Given the description of an element on the screen output the (x, y) to click on. 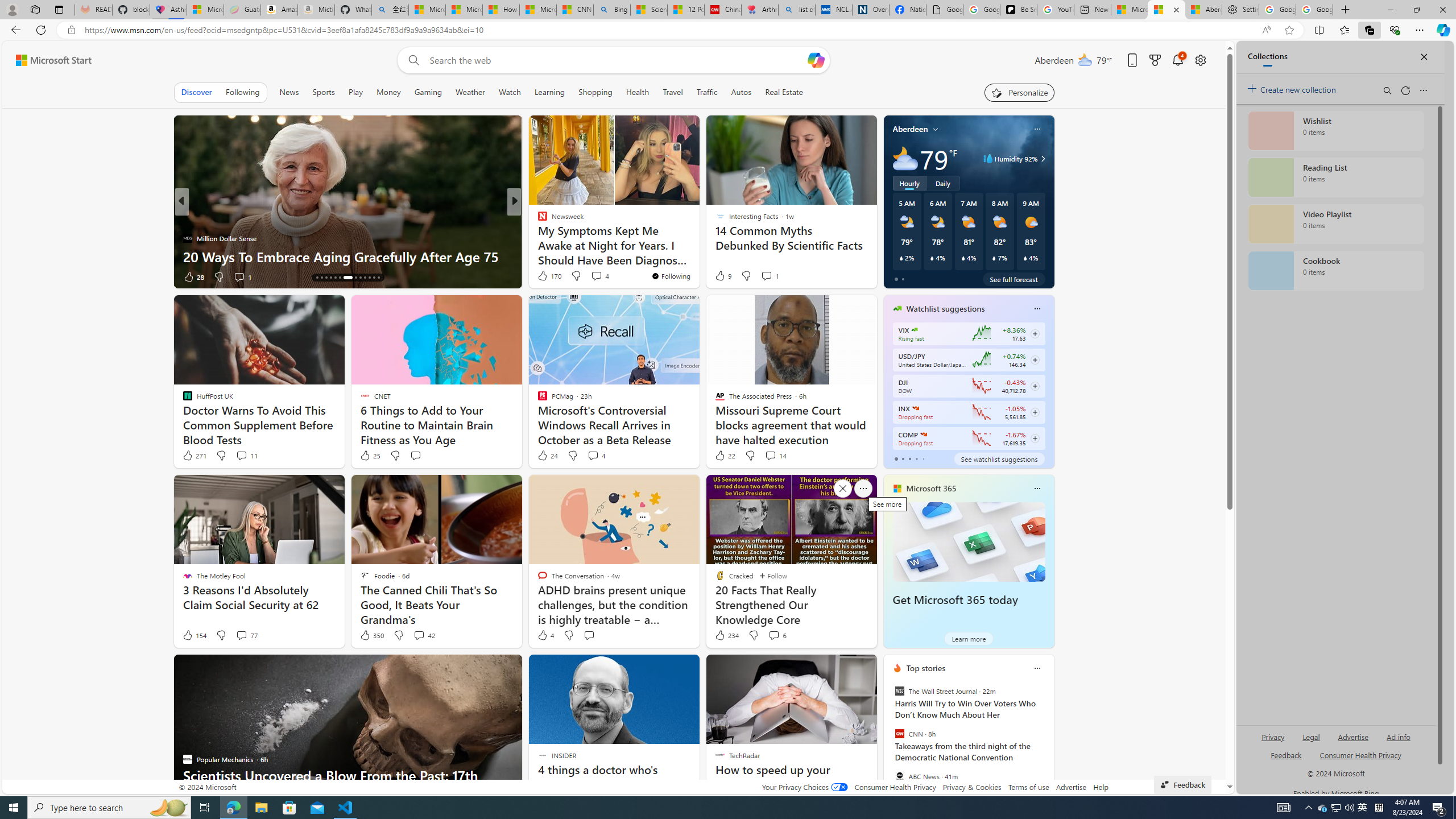
Humidity 92% (1040, 158)
Mostly cloudy (904, 158)
View comments 77 Comment (246, 634)
View comments 6 Comment (776, 634)
